Given the description of an element on the screen output the (x, y) to click on. 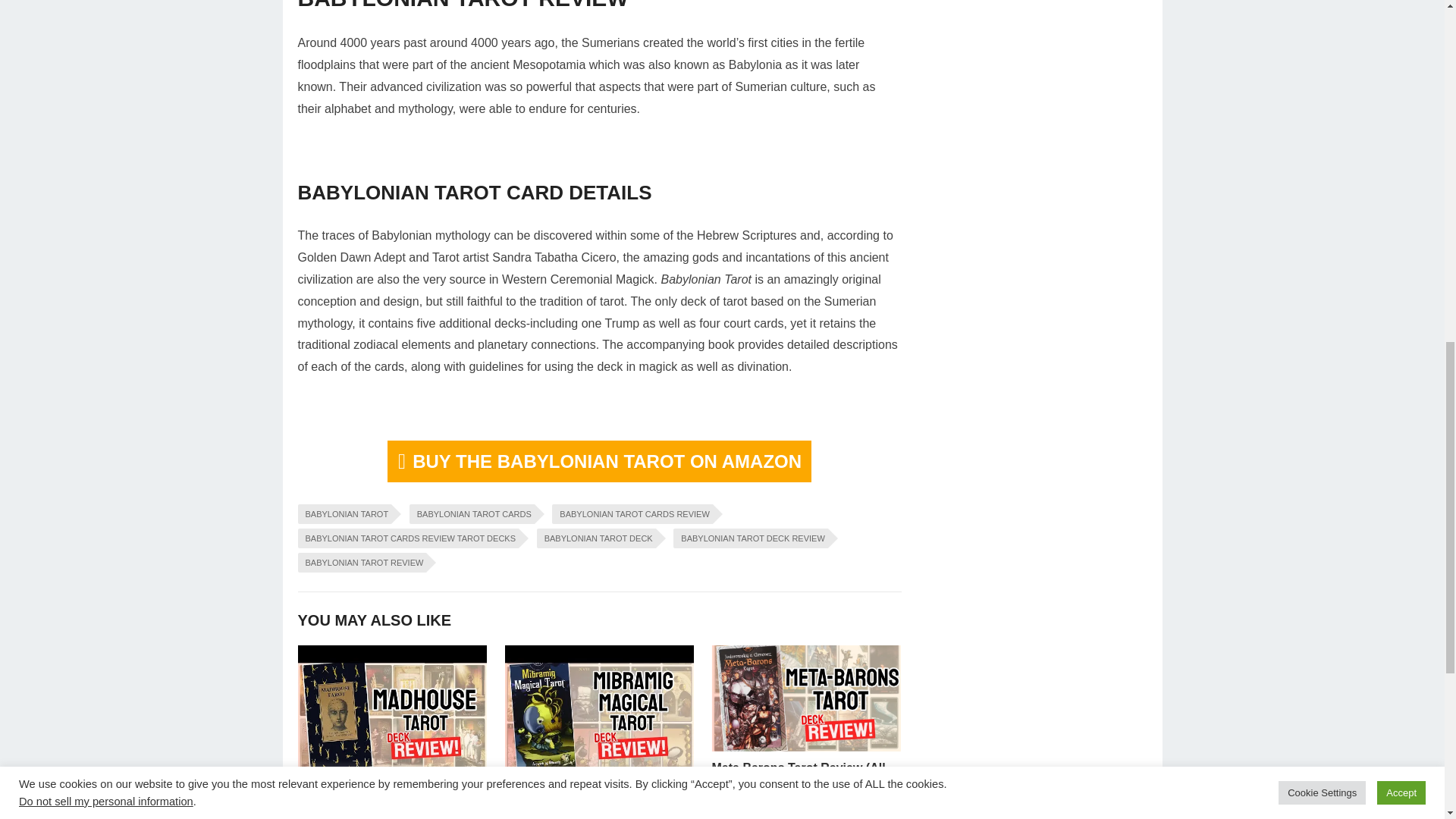
BABYLONIAN TAROT DECK REVIEW (750, 537)
BABYLONIAN TAROT CARDS REVIEW (631, 514)
BABYLONIAN TAROT CARDS REVIEW TAROT DECKS (407, 537)
BABYLONIAN TAROT (344, 514)
BABYLONIAN TAROT REVIEW (361, 562)
BABYLONIAN TAROT CARDS (471, 514)
BABYLONIAN TAROT DECK (596, 537)
BUY THE BABYLONIAN TAROT ON AMAZON (598, 461)
